Given the description of an element on the screen output the (x, y) to click on. 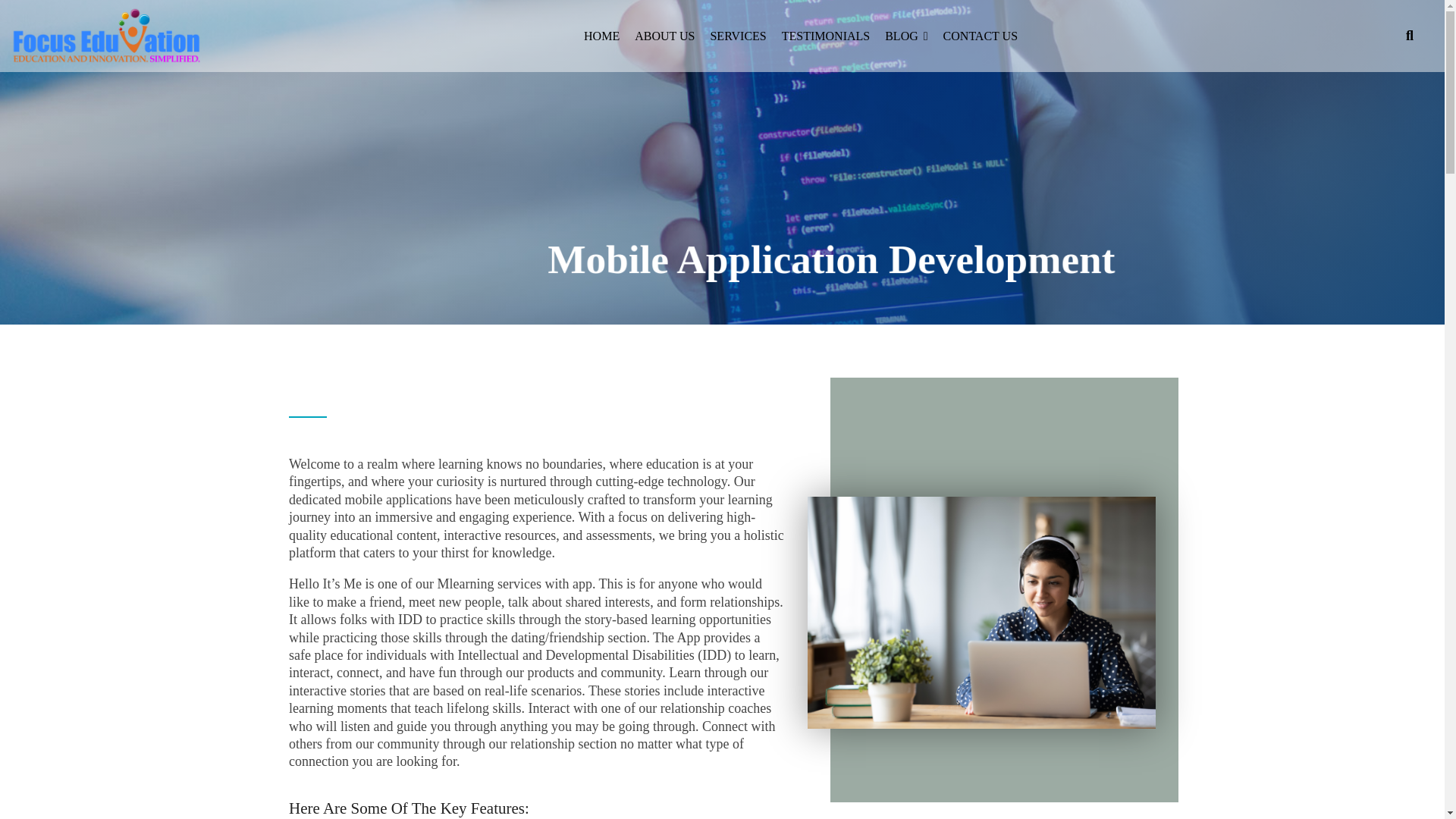
BLOG (906, 36)
SERVICES (737, 36)
TESTIMONIALS (825, 36)
HOME (601, 36)
ABOUT US (664, 36)
CONTACT US (980, 36)
